Given the description of an element on the screen output the (x, y) to click on. 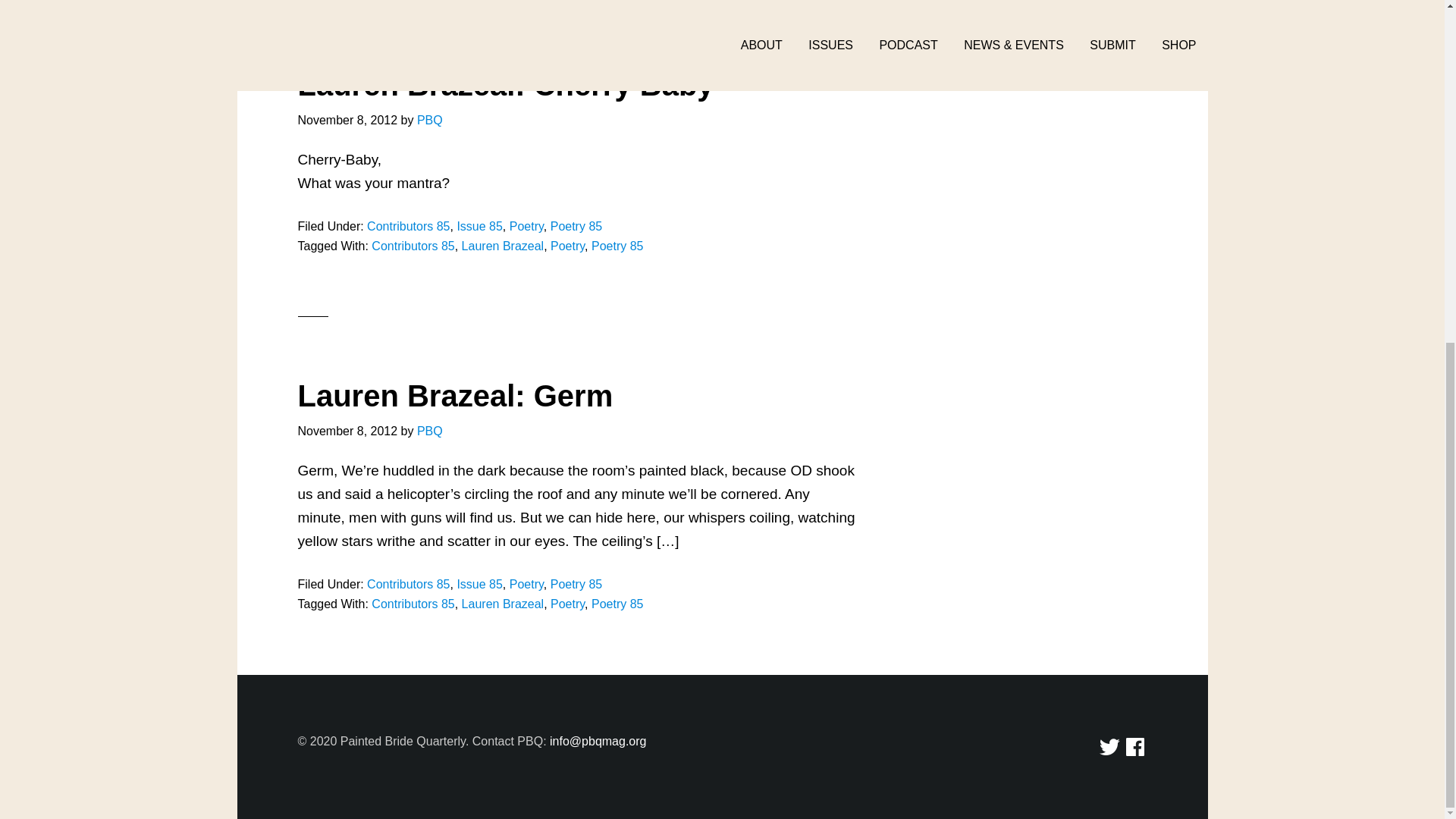
PBQ (429, 119)
Poetry (526, 226)
Issue 85 (479, 226)
Contributors 85 (407, 226)
Poetry 85 (576, 226)
Lauren Brazeal: Cherry Baby (505, 84)
